Given the description of an element on the screen output the (x, y) to click on. 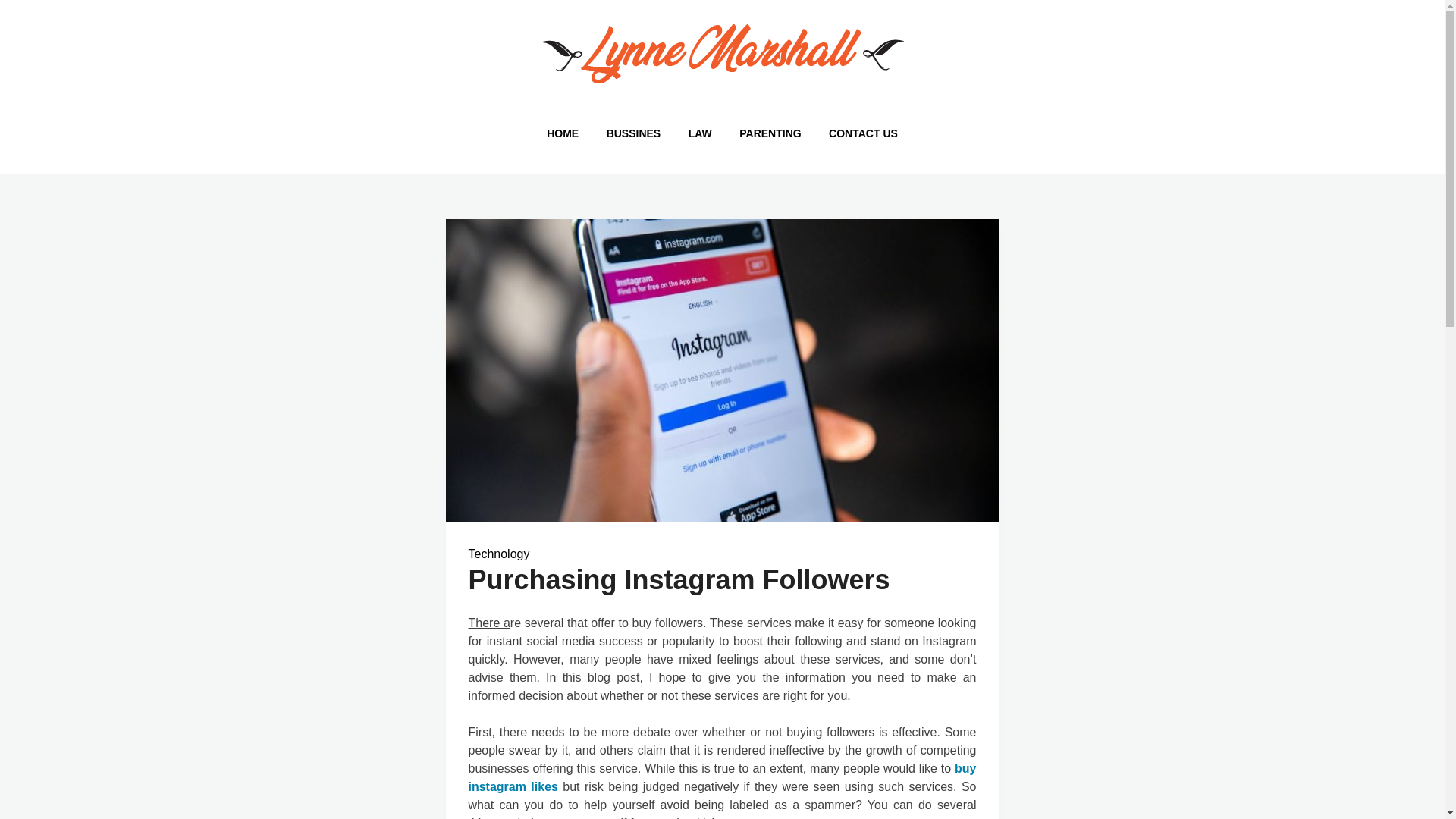
BUSSINES (633, 133)
Lynne Marshall (400, 110)
LAW (700, 133)
HOME (562, 133)
buy instagram likes (722, 777)
Technology (498, 553)
PARENTING (769, 133)
CONTACT US (863, 133)
